Given the description of an element on the screen output the (x, y) to click on. 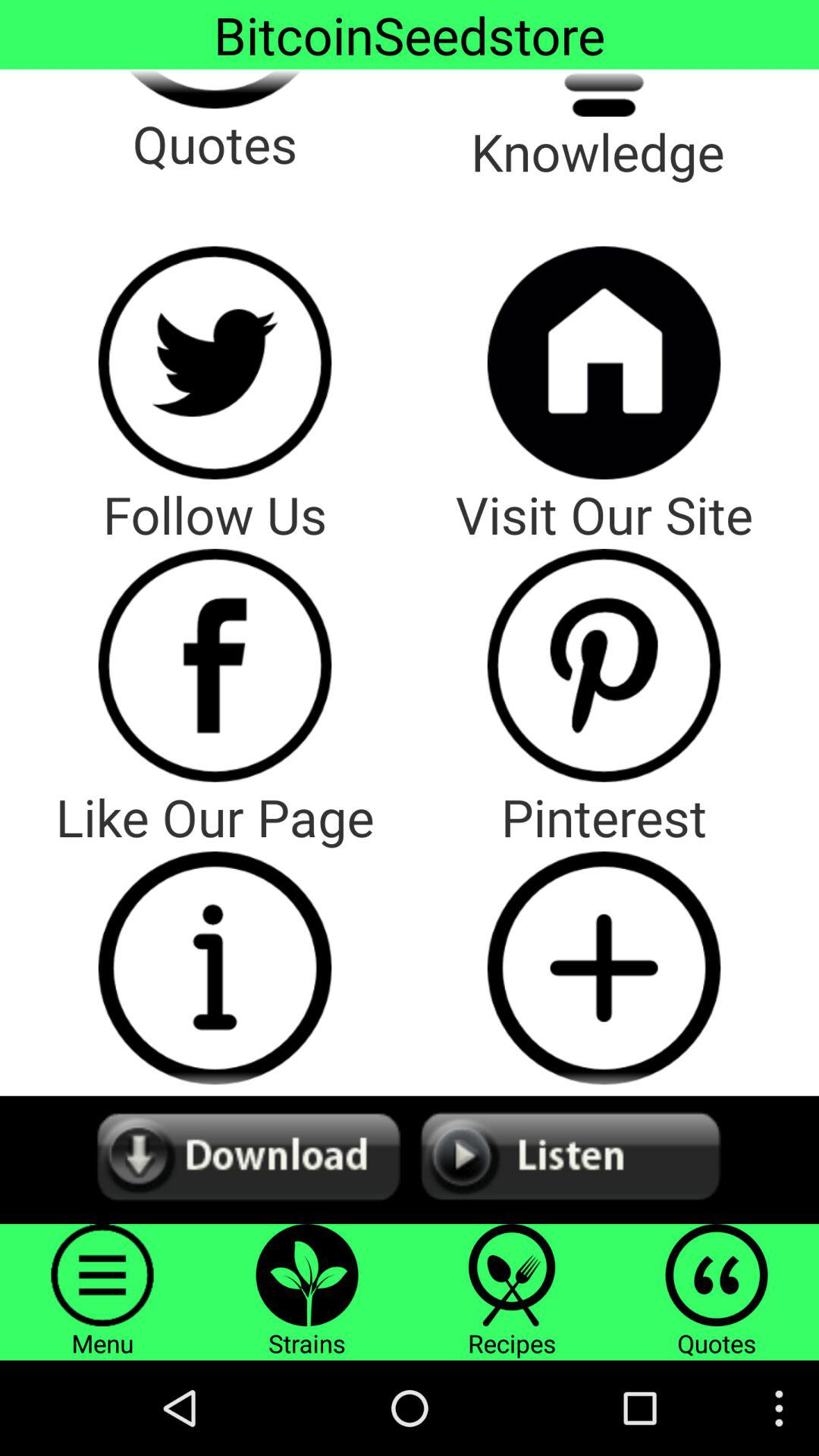
knowledge icon (603, 92)
